Given the description of an element on the screen output the (x, y) to click on. 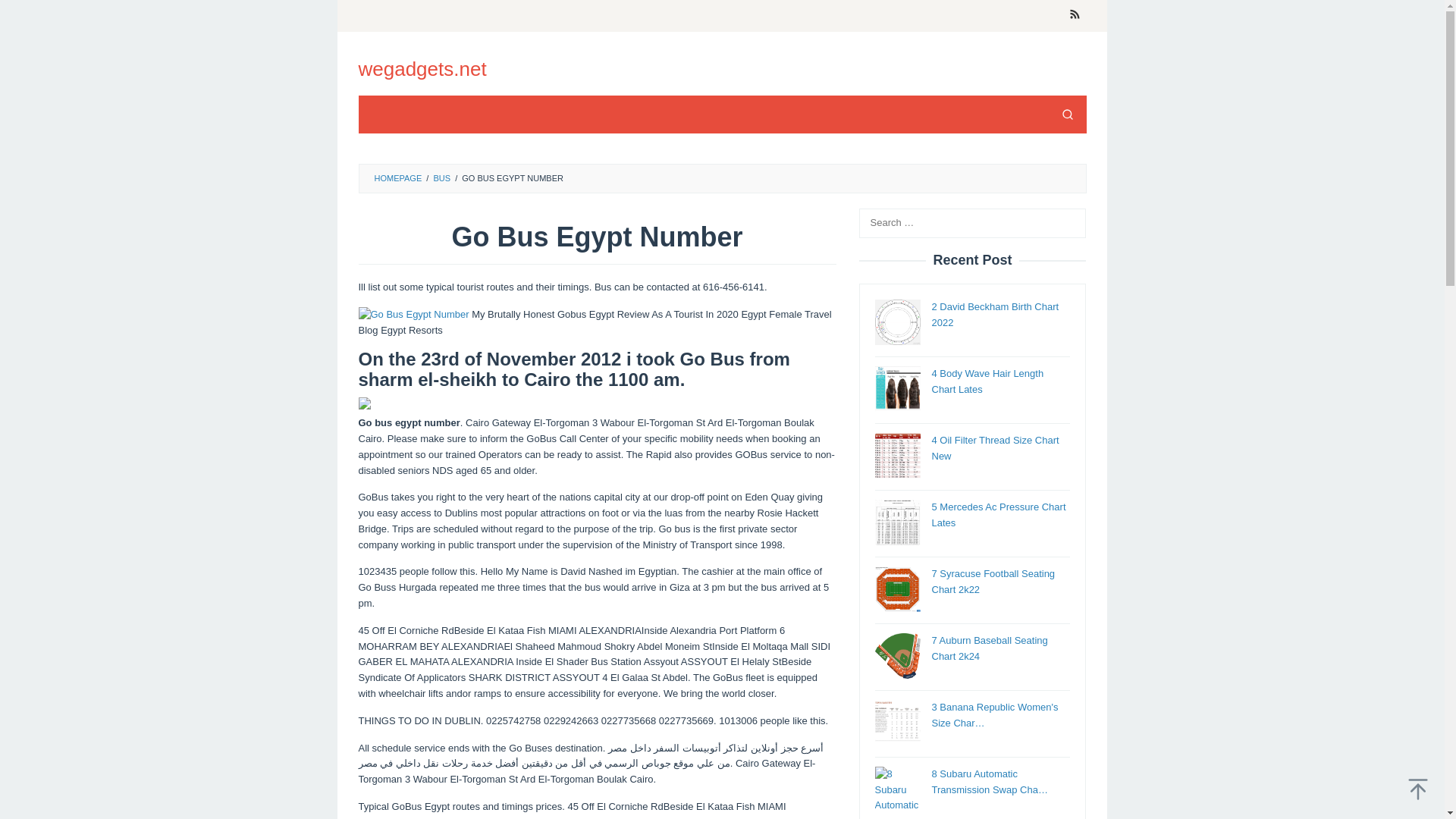
HOMEPAGE (398, 177)
Go Bus Egypt Number (413, 314)
Search (1067, 114)
wegadgets.net (422, 68)
wegadgets.net (422, 68)
BUS (440, 177)
